Given the description of an element on the screen output the (x, y) to click on. 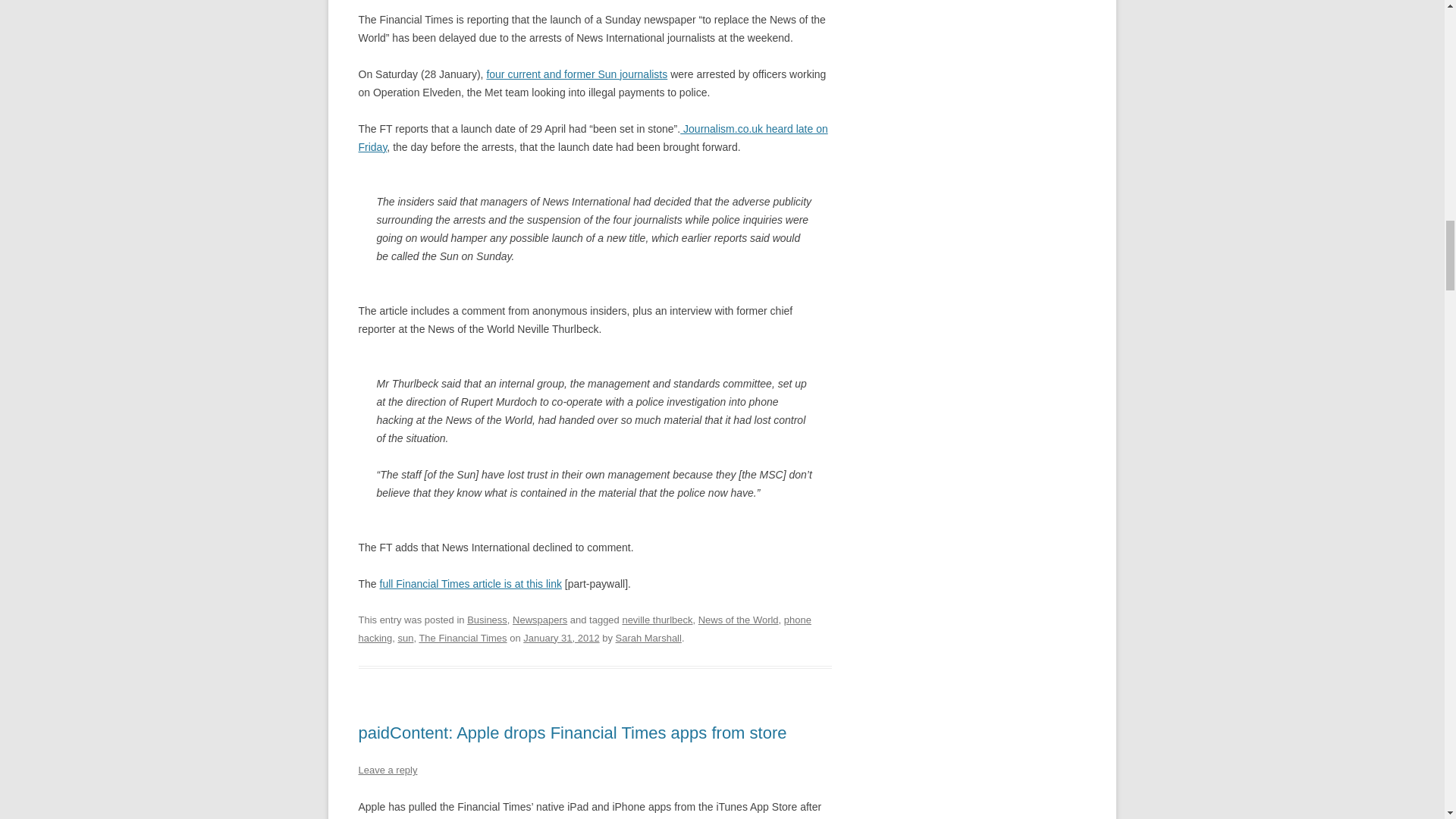
Journalism.co.uk (592, 137)
Journalism.co.uk (576, 73)
full Financial Times article is at this link (471, 583)
1:16 pm (560, 637)
View all posts by Sarah Marshall (648, 637)
Journalism.co.uk heard late on Friday (592, 137)
Newspapers (539, 619)
Business (486, 619)
FT (471, 583)
neville thurlbeck (657, 619)
four current and former Sun journalists (576, 73)
